Given the description of an element on the screen output the (x, y) to click on. 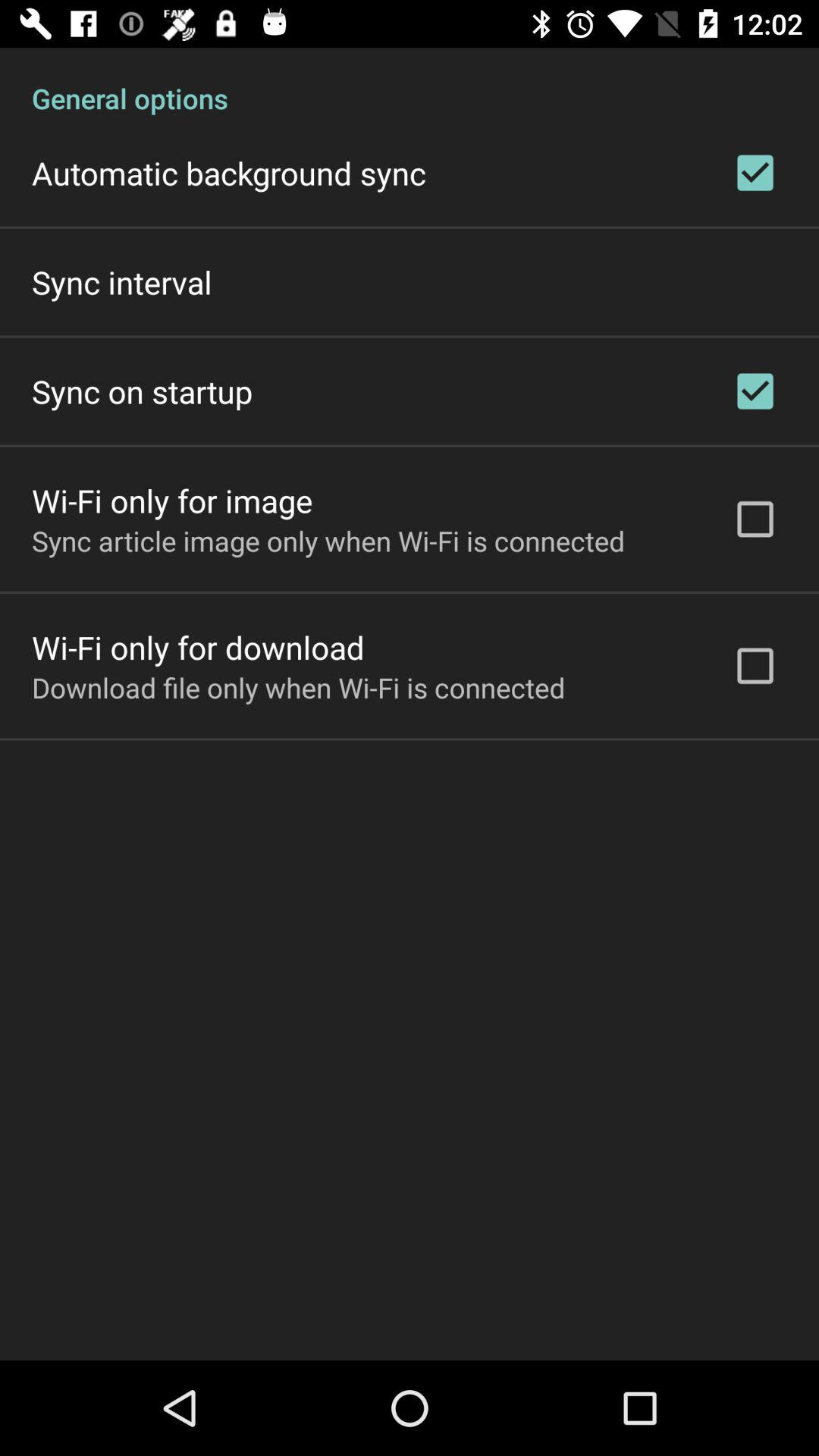
turn on the item below wi fi only item (328, 540)
